Given the description of an element on the screen output the (x, y) to click on. 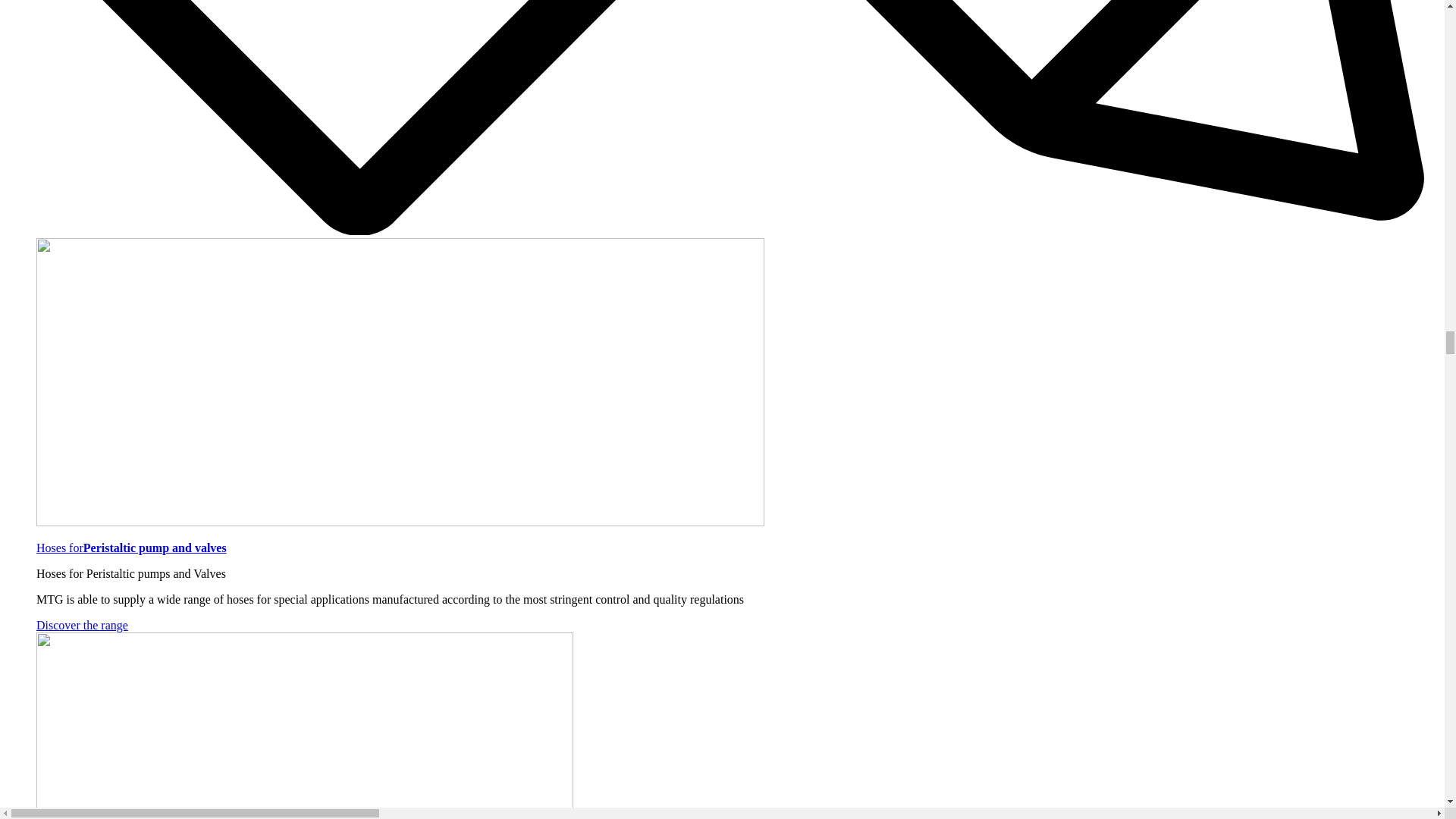
Discover the range (82, 625)
